Given the description of an element on the screen output the (x, y) to click on. 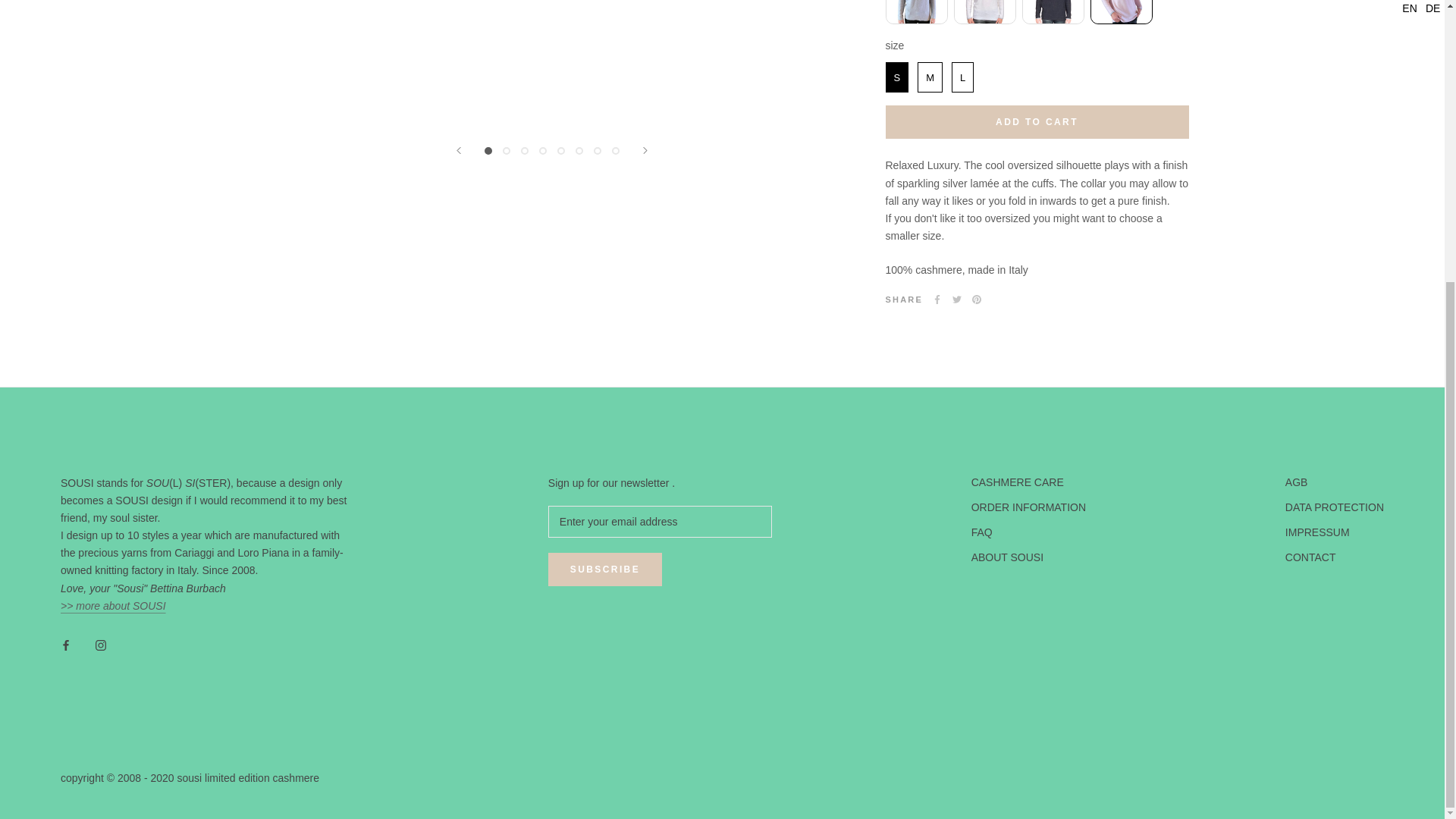
ABOUT SOUSI (113, 605)
